Given the description of an element on the screen output the (x, y) to click on. 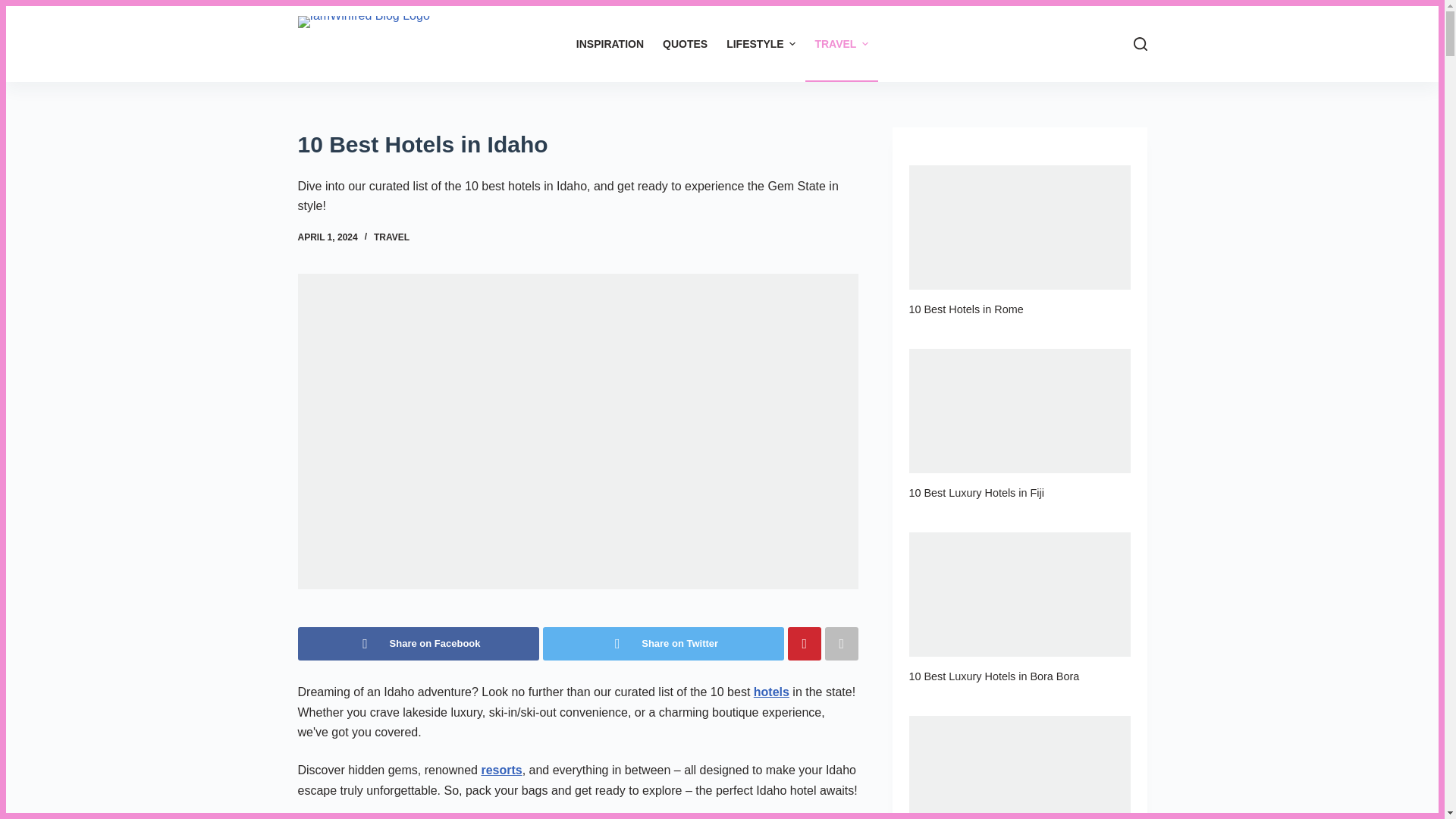
TRAVEL (391, 236)
Skip to content (15, 7)
Share on Facebook (417, 643)
LIFESTYLE (761, 43)
Booking.com Resorts (500, 769)
INSPIRATION (609, 43)
TRAVEL (841, 43)
Share on Twitter (663, 643)
10 Best Hotels in Idaho (577, 144)
Tripadvisor Home Page (771, 691)
